Given the description of an element on the screen output the (x, y) to click on. 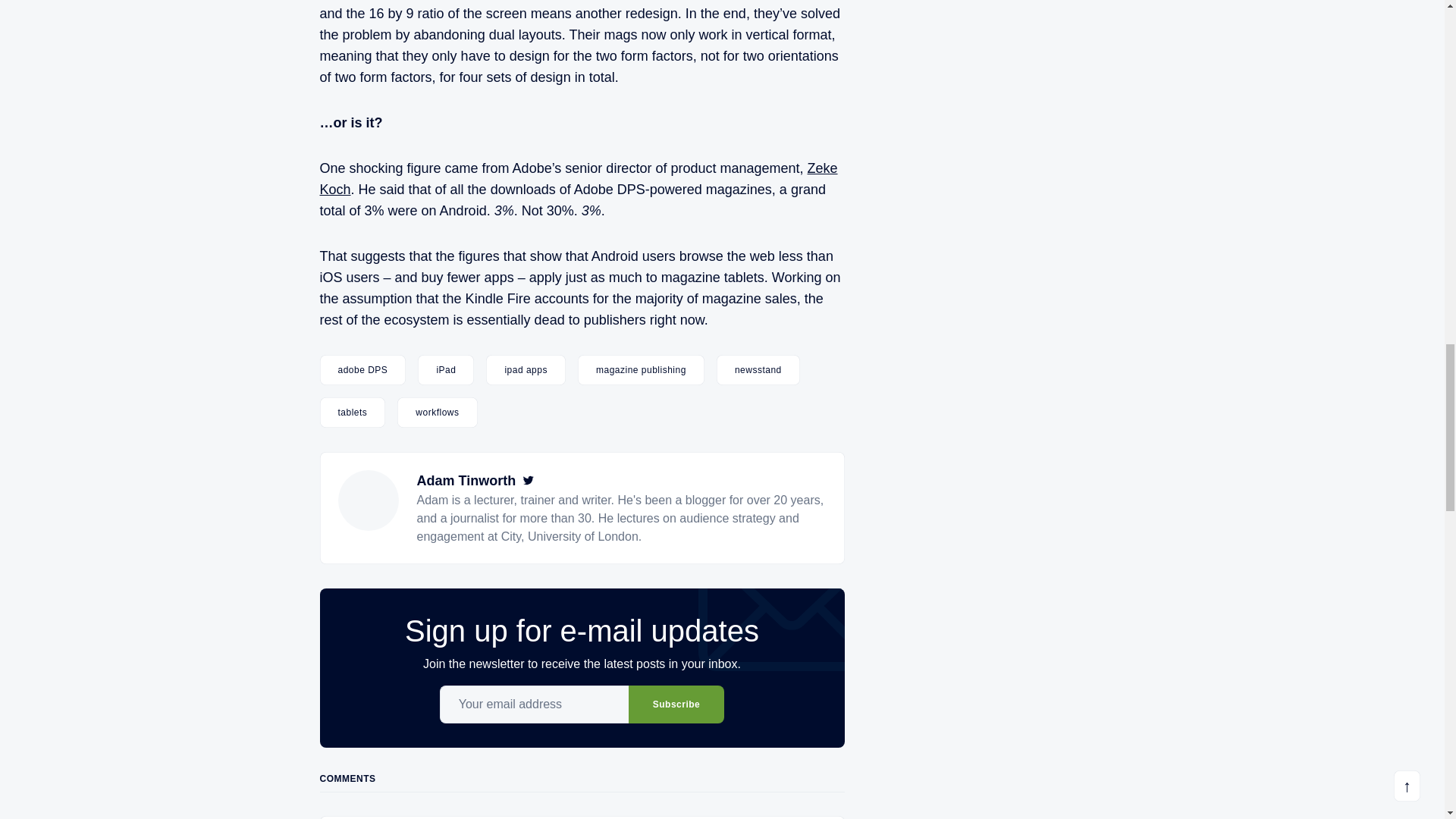
newsstand (757, 369)
iPad (445, 369)
magazine publishing (641, 369)
adobe DPS (363, 369)
ipad apps (526, 369)
Zeke Koch (579, 178)
